Given the description of an element on the screen output the (x, y) to click on. 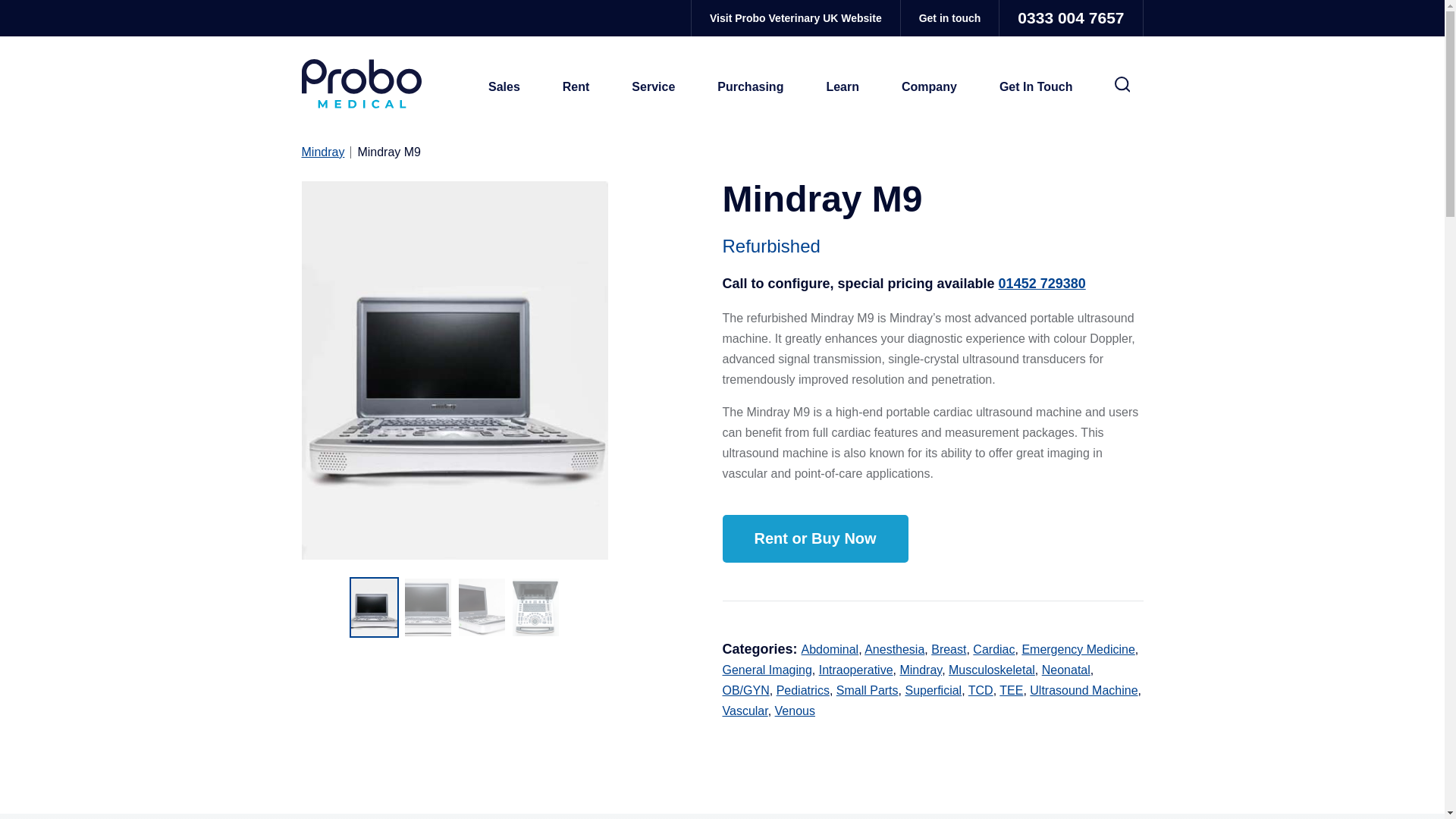
refurbished-mindray-m9-1 (454, 369)
Rent or Buy Now (814, 538)
Service (652, 86)
Get in touch (949, 18)
Learn (842, 86)
Visit Probo Veterinary UK Website (795, 18)
Company (929, 86)
Purchasing (750, 86)
Rent (576, 86)
Sales (504, 86)
Get In Touch (1036, 86)
Mindray (326, 152)
0333 004 7657 (1069, 18)
01452 729380 (1042, 283)
